Given the description of an element on the screen output the (x, y) to click on. 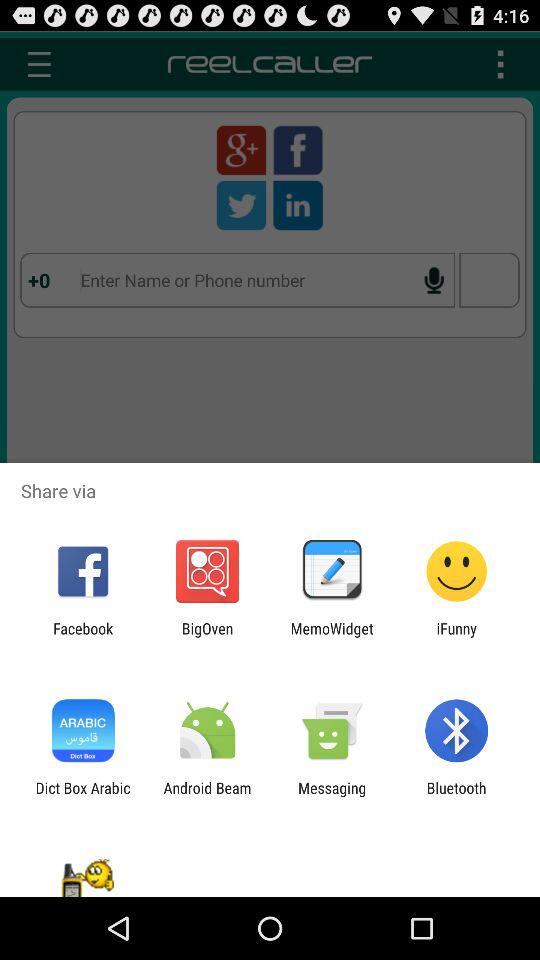
launch the app to the right of dict box arabic app (207, 796)
